Given the description of an element on the screen output the (x, y) to click on. 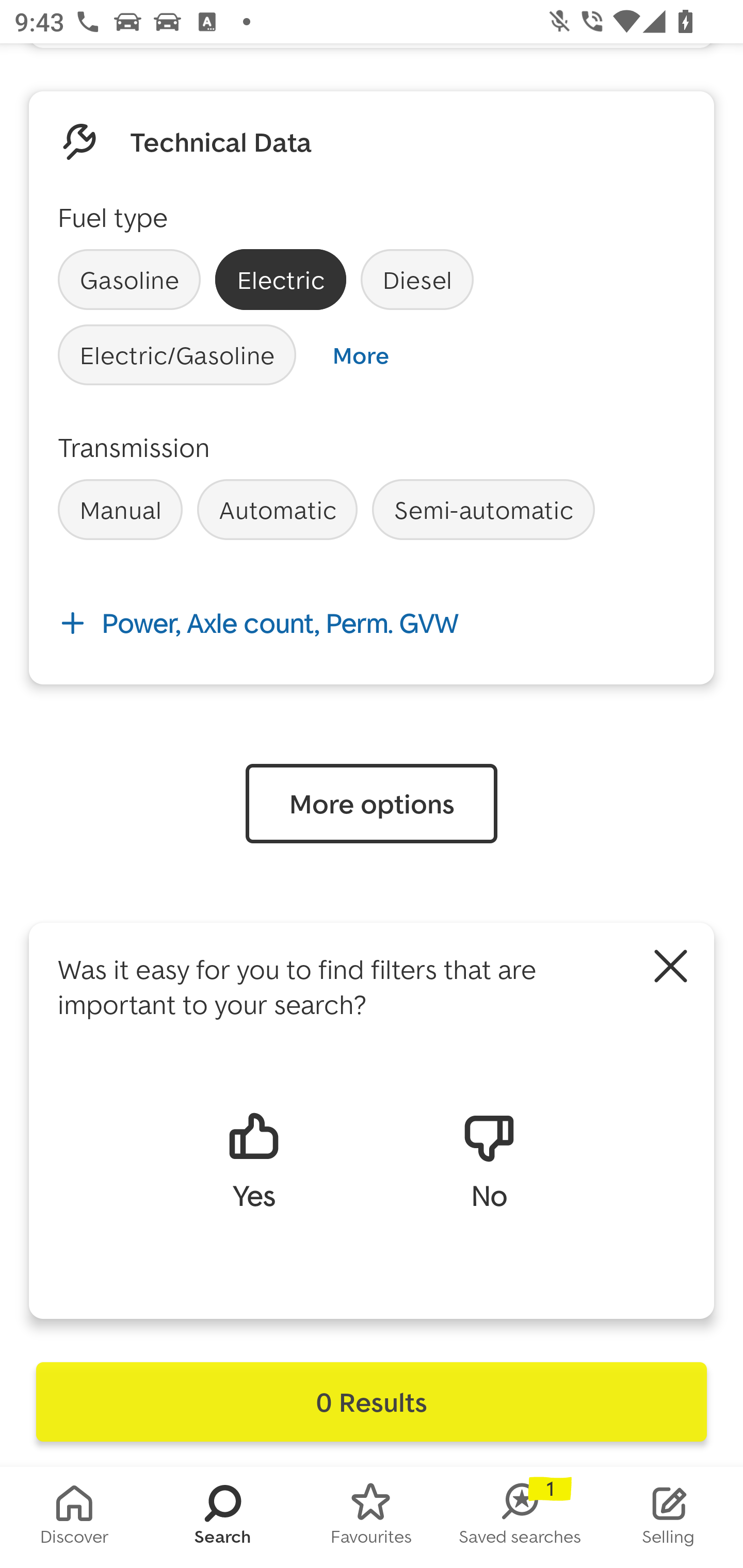
Technical Data (221, 141)
Fuel type (112, 217)
Gasoline (128, 279)
Electric (280, 279)
Diesel (417, 279)
Electric/Gasoline (176, 354)
More (360, 354)
Transmission (133, 446)
Manual (119, 509)
Automatic (276, 509)
Semi-automatic (483, 509)
Power, Axle count, Perm. GVW (371, 623)
More options (371, 803)
Yes (253, 1159)
No (489, 1159)
0 Results (371, 1401)
HOMESCREEN Discover (74, 1517)
SEARCH Search (222, 1517)
FAVORITES Favourites (371, 1517)
SAVED_SEARCHES Saved searches 1 (519, 1517)
STOCK_LIST Selling (668, 1517)
